Given the description of an element on the screen output the (x, y) to click on. 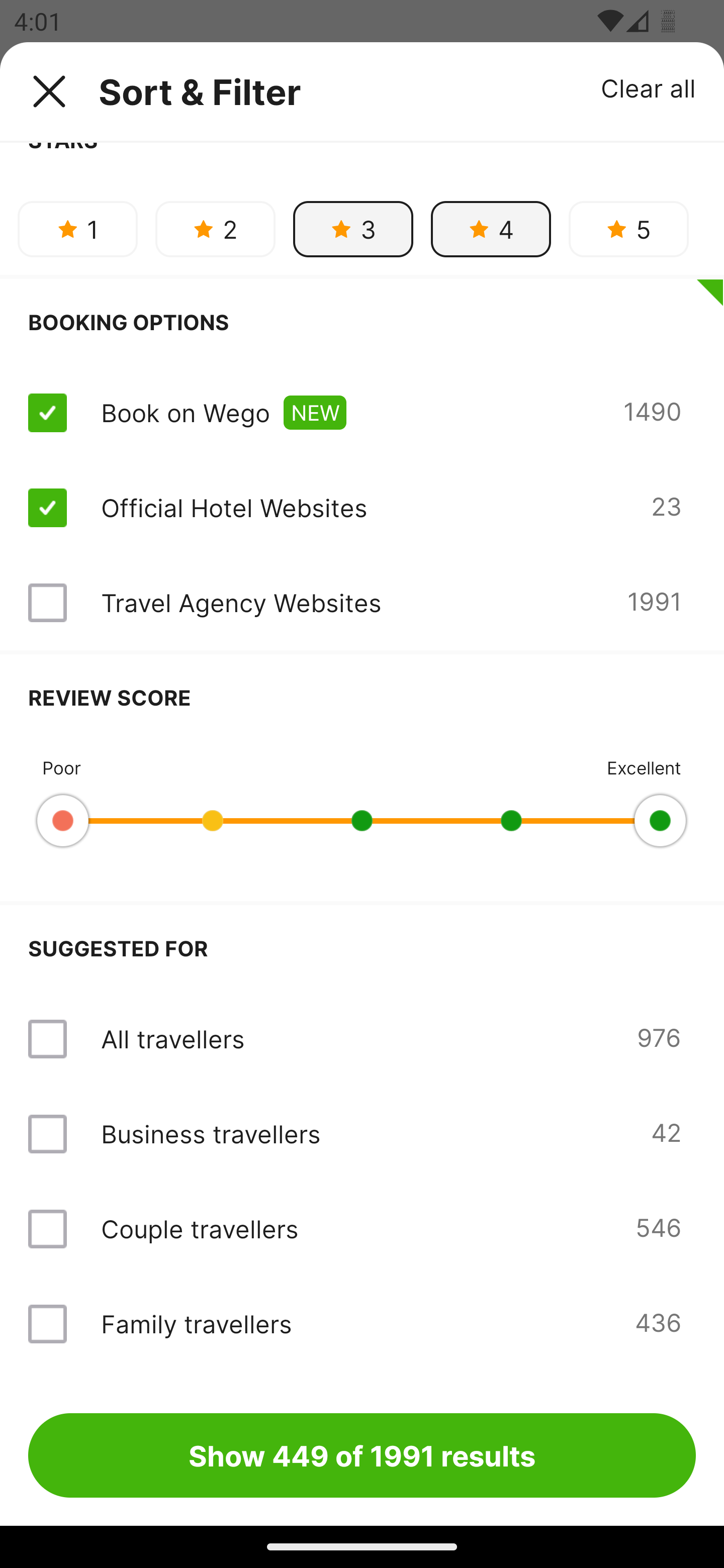
Clear all (648, 87)
1 (77, 228)
2 (214, 228)
3 (352, 228)
4 (491, 228)
5 (627, 228)
Book on Wego NEW 1490 (362, 412)
Book on Wego (184, 412)
Official Hotel Websites 23 (362, 507)
Official Hotel Websites (233, 507)
Travel Agency Websites 1991 (362, 602)
Travel Agency Websites (240, 602)
Poor Excellent (362, 820)
All travellers  976 (362, 1038)
All travellers  (175, 1038)
Business travellers 42 (362, 1134)
Business travellers (210, 1133)
Couple travellers 546 (362, 1229)
Couple travellers (199, 1228)
Family travellers 436 (362, 1324)
Family travellers (195, 1323)
Show 449 of 1991 results (361, 1454)
